Given the description of an element on the screen output the (x, y) to click on. 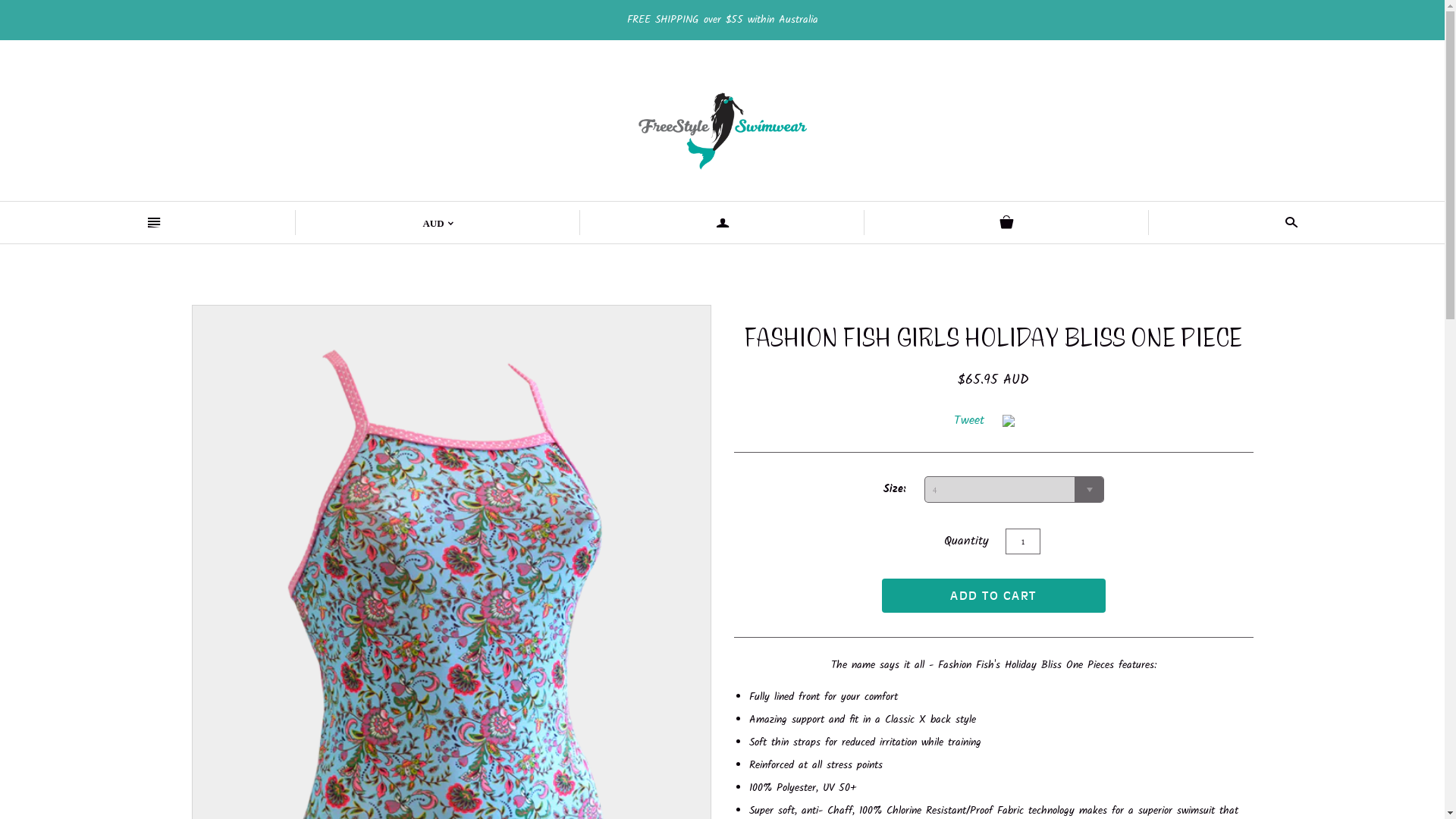
Bag Icon Element type: text (1006, 222)
FREE SHIPPING over $55 within Australia Element type: text (722, 20)
a Element type: text (722, 222)
Add to cart Element type: text (992, 595)
Tweet Element type: text (968, 420)
